Given the description of an element on the screen output the (x, y) to click on. 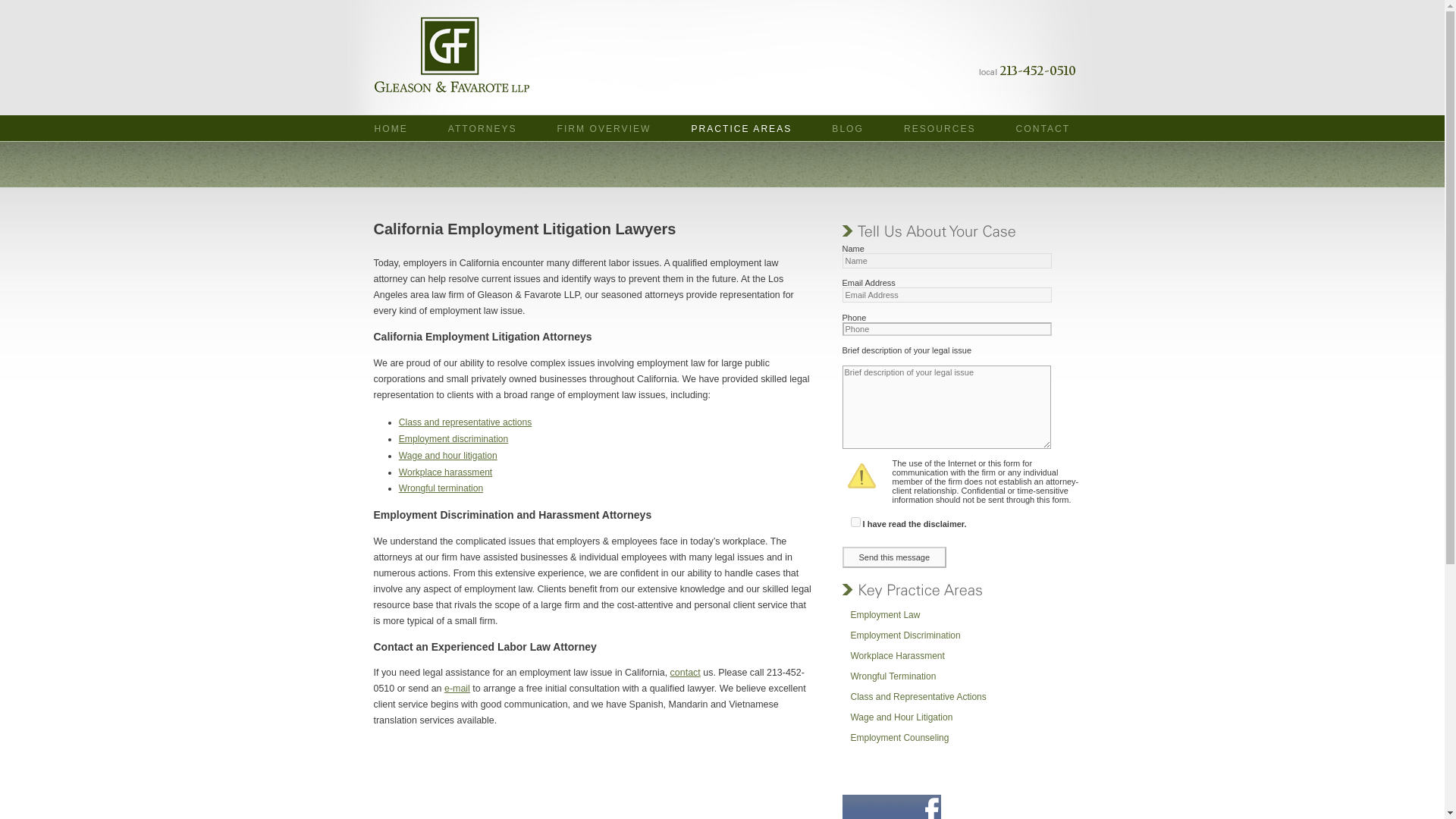
Send this message (893, 557)
RESOURCES (939, 128)
I have read the disclaimer. (855, 521)
Firm Overview (603, 128)
Home (390, 128)
PRACTICE AREAS (741, 128)
BLOG (847, 128)
Employment Discrimination (959, 639)
Class and Representative Actions (959, 701)
FIRM OVERVIEW (603, 128)
ATTORNEYS (482, 128)
Send this message (893, 557)
Workplace Harassment (959, 660)
Attorneys (482, 128)
Wrongful termination (440, 488)
